Given the description of an element on the screen output the (x, y) to click on. 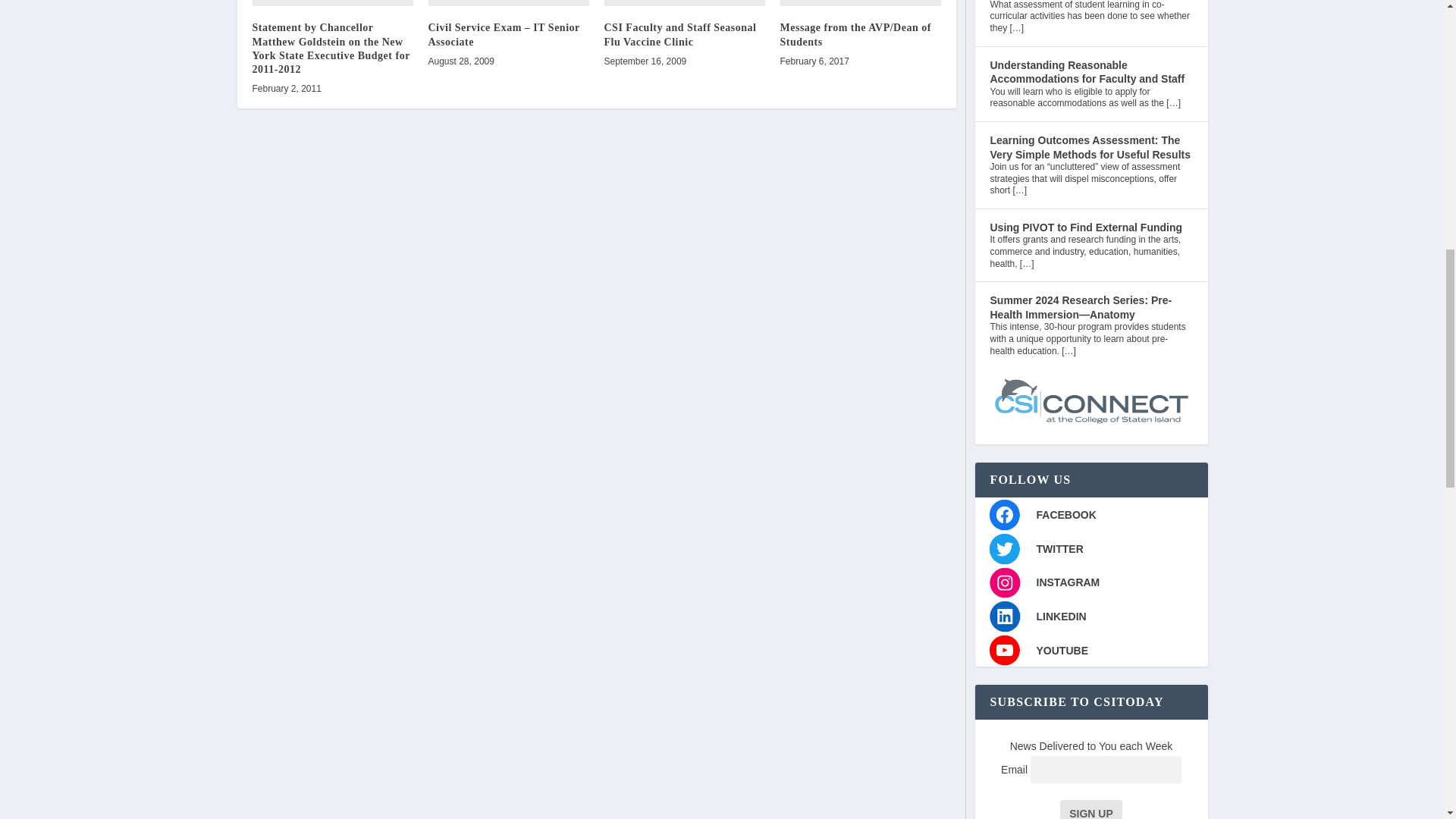
Sign up (1090, 809)
CSI Faculty and Staff Seasonal Flu Vaccine Clinic (684, 2)
